Given the description of an element on the screen output the (x, y) to click on. 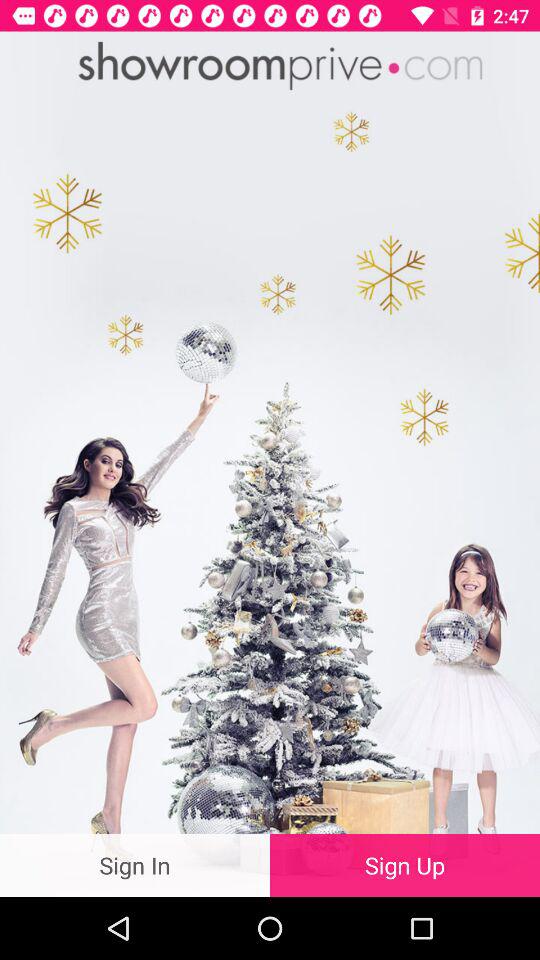
swipe to the sign in item (135, 864)
